Given the description of an element on the screen output the (x, y) to click on. 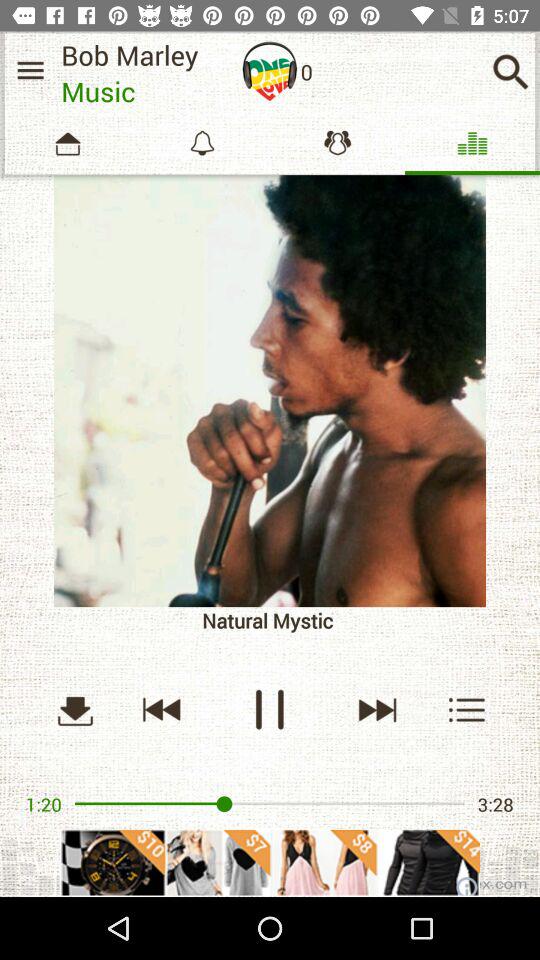
download song (75, 709)
